Given the description of an element on the screen output the (x, y) to click on. 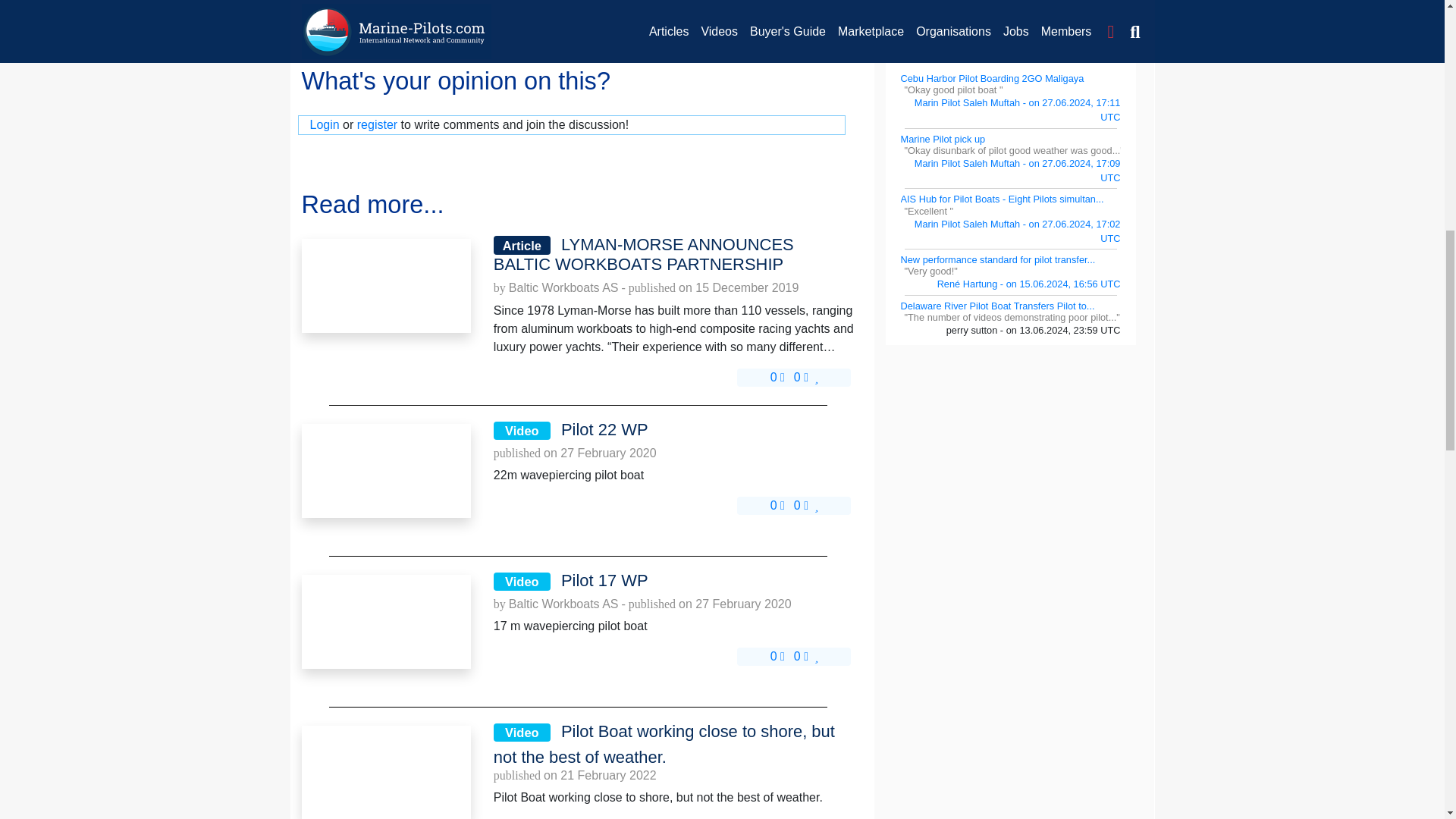
Login (323, 124)
Pilot 17 WP (385, 621)
0 (777, 377)
register (376, 124)
LYMAN-MORSE ANNOUNCES BALTIC WORKBOATS PARTNERSHIP (385, 284)
Article LYMAN-MORSE ANNOUNCES BALTIC WORKBOATS PARTNERSHIP (674, 255)
Pilot 22 WP (385, 470)
LYMAN-MORSE ANNOUNCES BALTIC WORKBOATS PARTNERSHIP (385, 285)
LYMAN-MORSE ANNOUNCES BALTIC WORKBOATS PARTNERSHIP (674, 255)
